Given the description of an element on the screen output the (x, y) to click on. 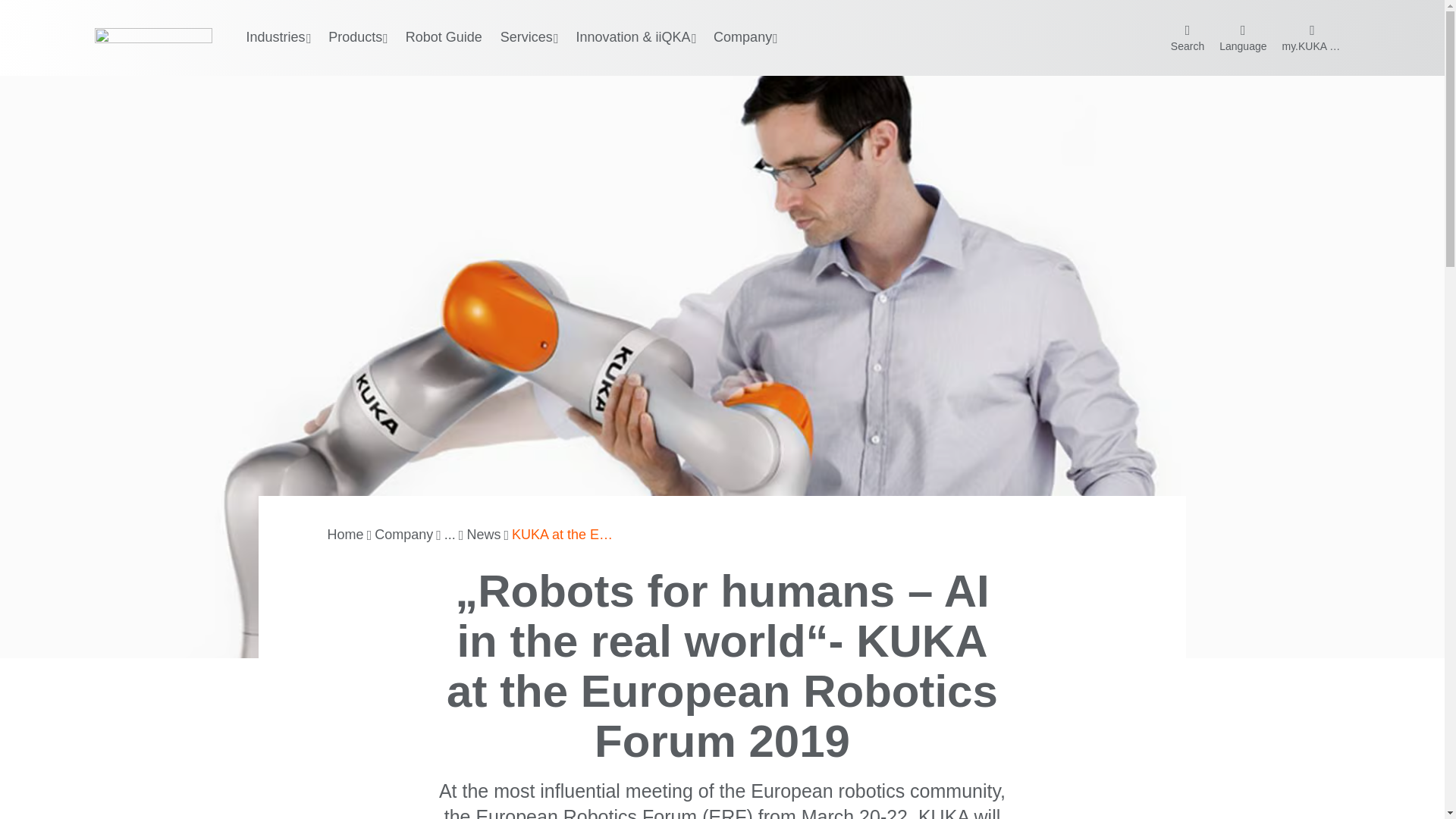
Home (345, 535)
News (482, 535)
KUKA at the European Robotics Forum 2019 (566, 535)
Company (403, 535)
